Given the description of an element on the screen output the (x, y) to click on. 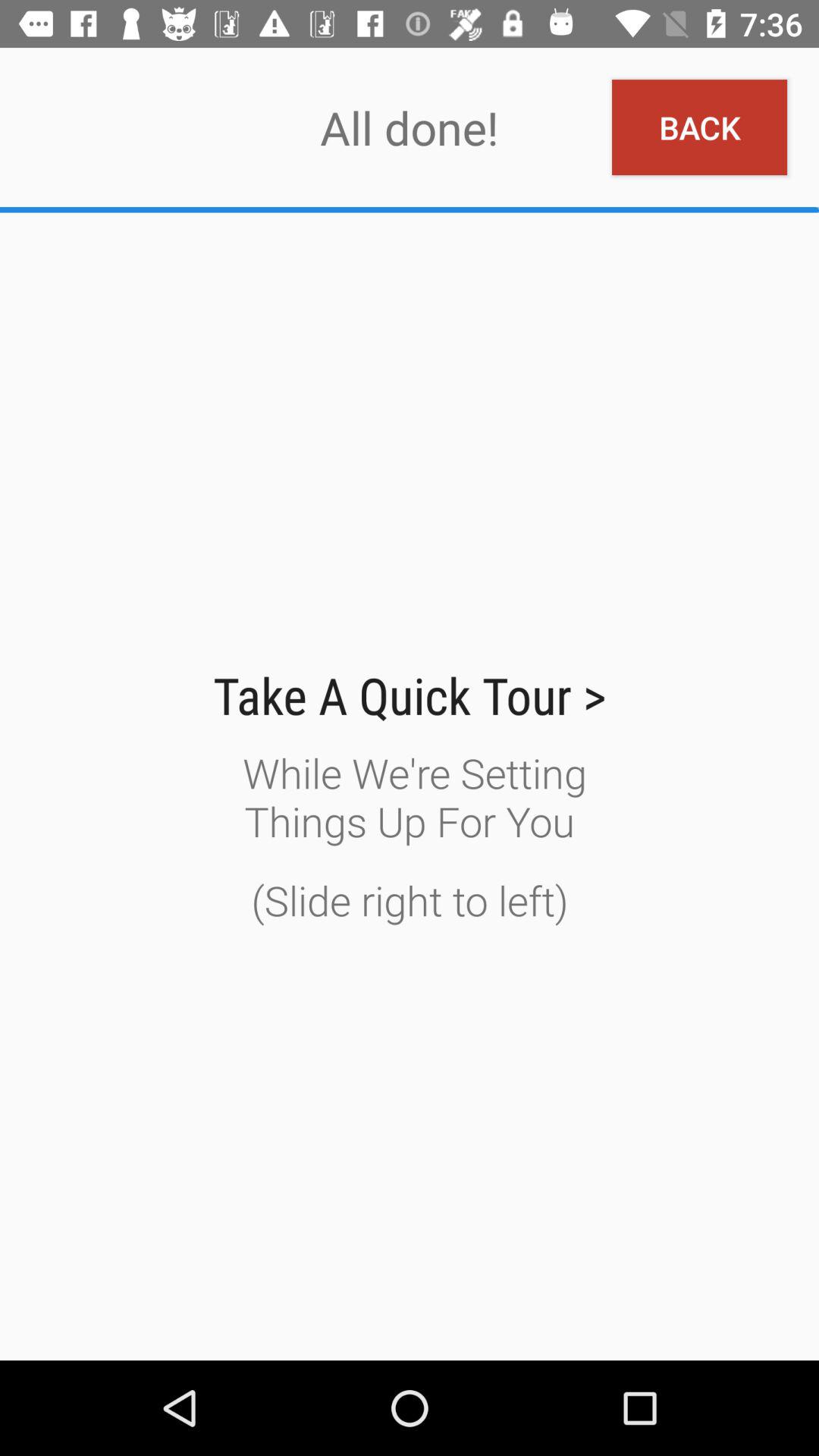
tap back icon (699, 127)
